Given the description of an element on the screen output the (x, y) to click on. 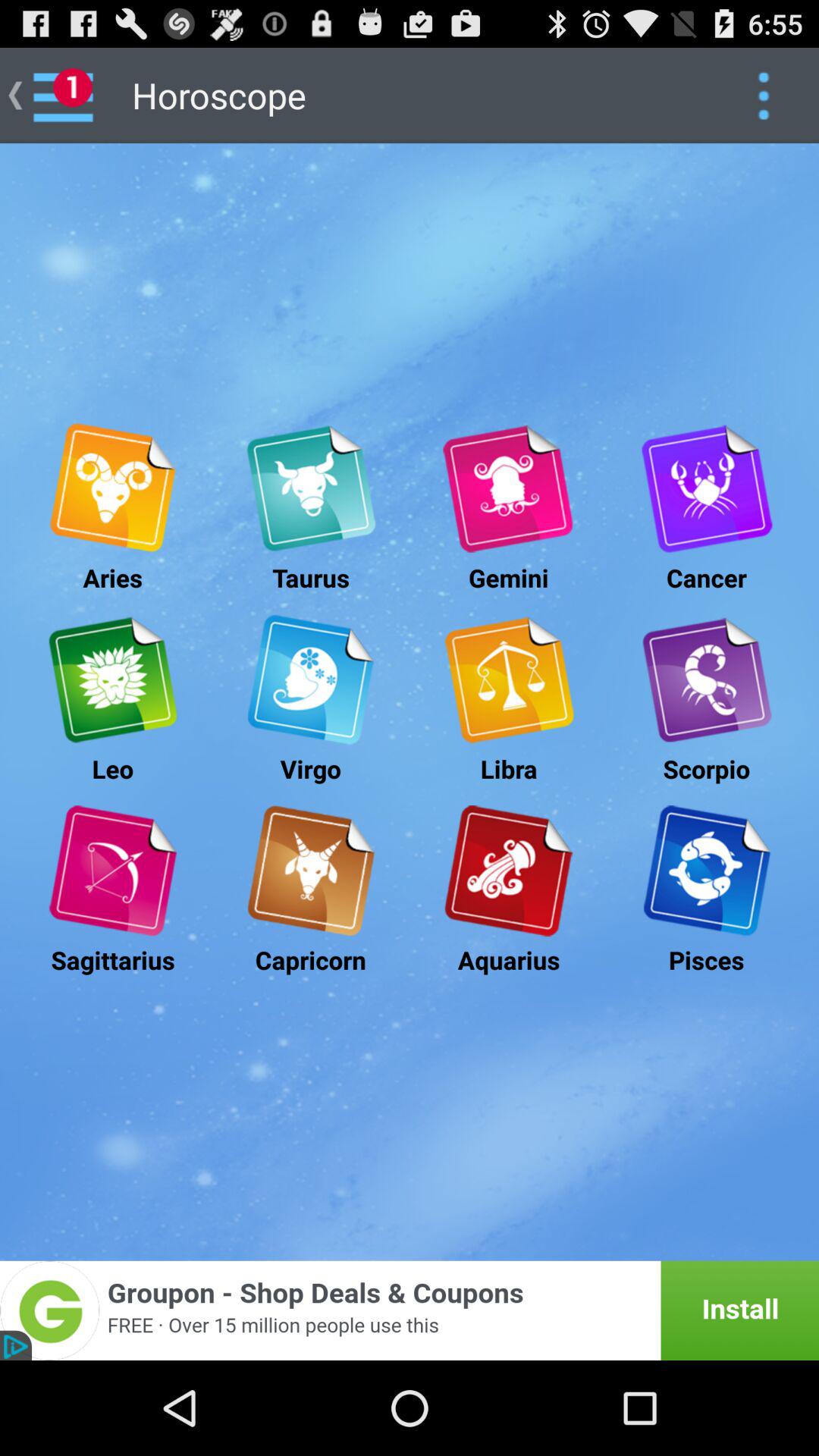
view the cancer zodiac details (706, 488)
